Given the description of an element on the screen output the (x, y) to click on. 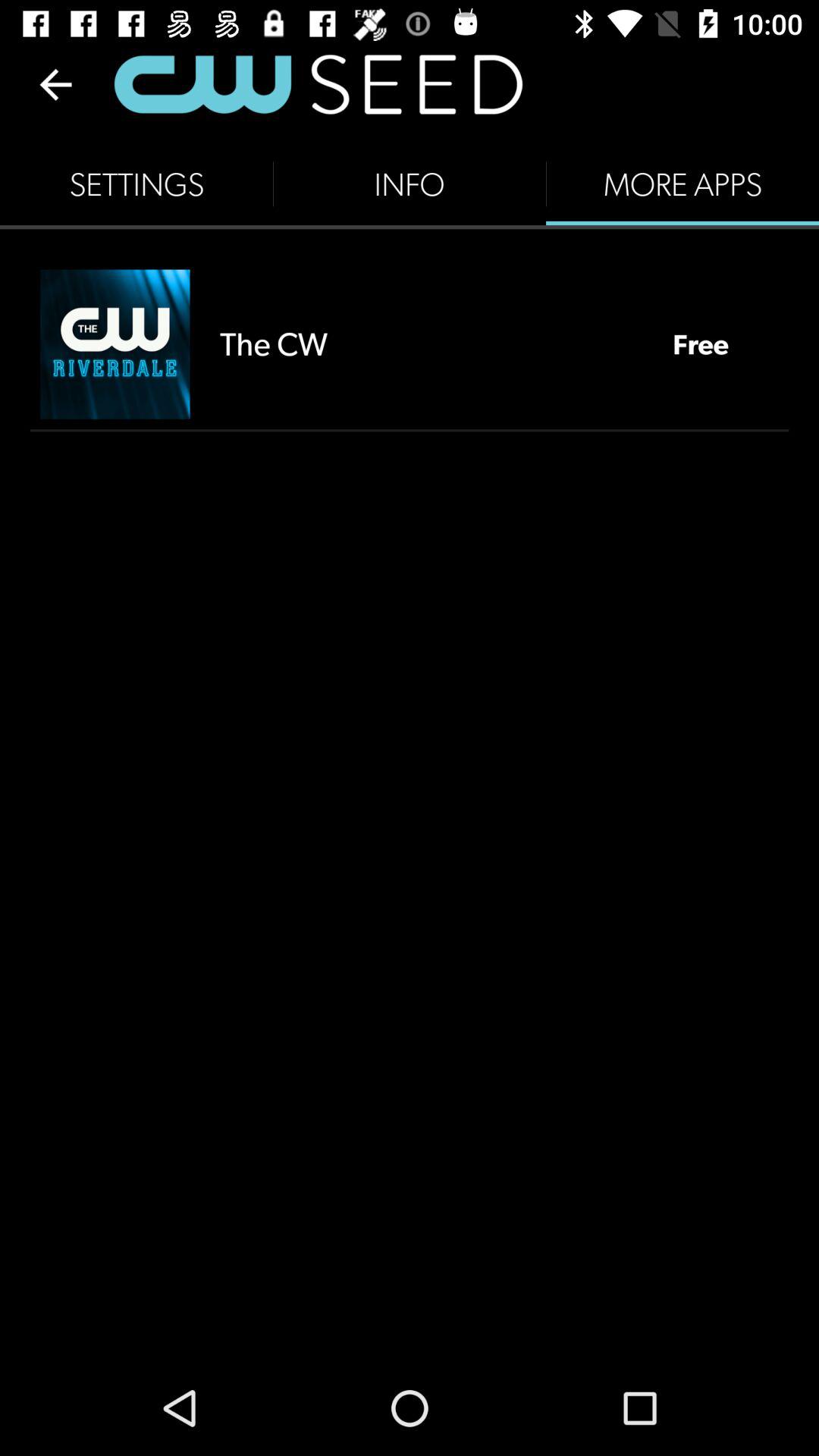
click the free item (700, 343)
